Given the description of an element on the screen output the (x, y) to click on. 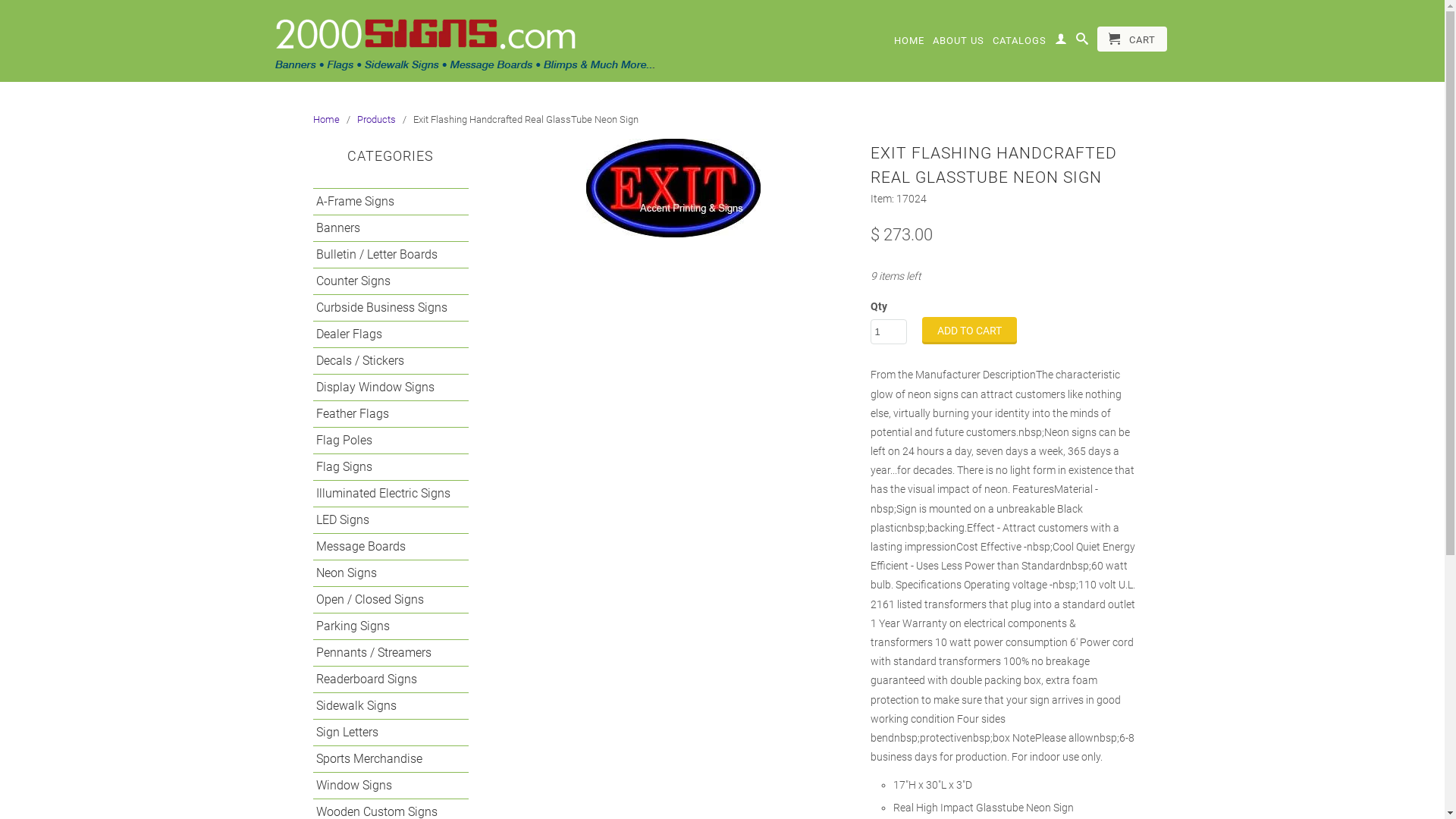
Window Signs Element type: text (383, 785)
Neon Signs Element type: text (383, 573)
My Account  Element type: hover (1060, 41)
Message Boards Element type: text (383, 546)
Sign Letters Element type: text (383, 732)
CATALOGS Element type: text (1018, 43)
Home Element type: text (325, 119)
ABOUT US Element type: text (958, 43)
Flag Signs Element type: text (383, 466)
HOME Element type: text (908, 43)
Flag Poles Element type: text (383, 440)
LED Signs Element type: text (383, 520)
Pennants / Streamers Element type: text (383, 652)
CART Element type: text (1131, 38)
Sidewalk Signs Element type: text (383, 705)
Products Element type: text (375, 119)
Decals / Stickers Element type: text (383, 360)
Banners Element type: text (383, 228)
2000signs.com Element type: hover (494, 40)
Display Window Signs Element type: text (383, 387)
Readerboard Signs Element type: text (383, 679)
ADD TO CART Element type: text (969, 330)
Search Element type: hover (1081, 41)
Counter Signs Element type: text (383, 281)
Parking Signs Element type: text (383, 626)
Open / Closed Signs Element type: text (383, 599)
Exit Flashing Handcrafted Real GlassTube Neon Sign Element type: hover (673, 187)
Sports Merchandise Element type: text (383, 758)
Dealer Flags Element type: text (383, 334)
A-Frame Signs Element type: text (383, 201)
Feather Flags Element type: text (383, 413)
Bulletin / Letter Boards Element type: text (383, 254)
Illuminated Electric Signs Element type: text (383, 493)
Curbside Business Signs Element type: text (383, 307)
